Given the description of an element on the screen output the (x, y) to click on. 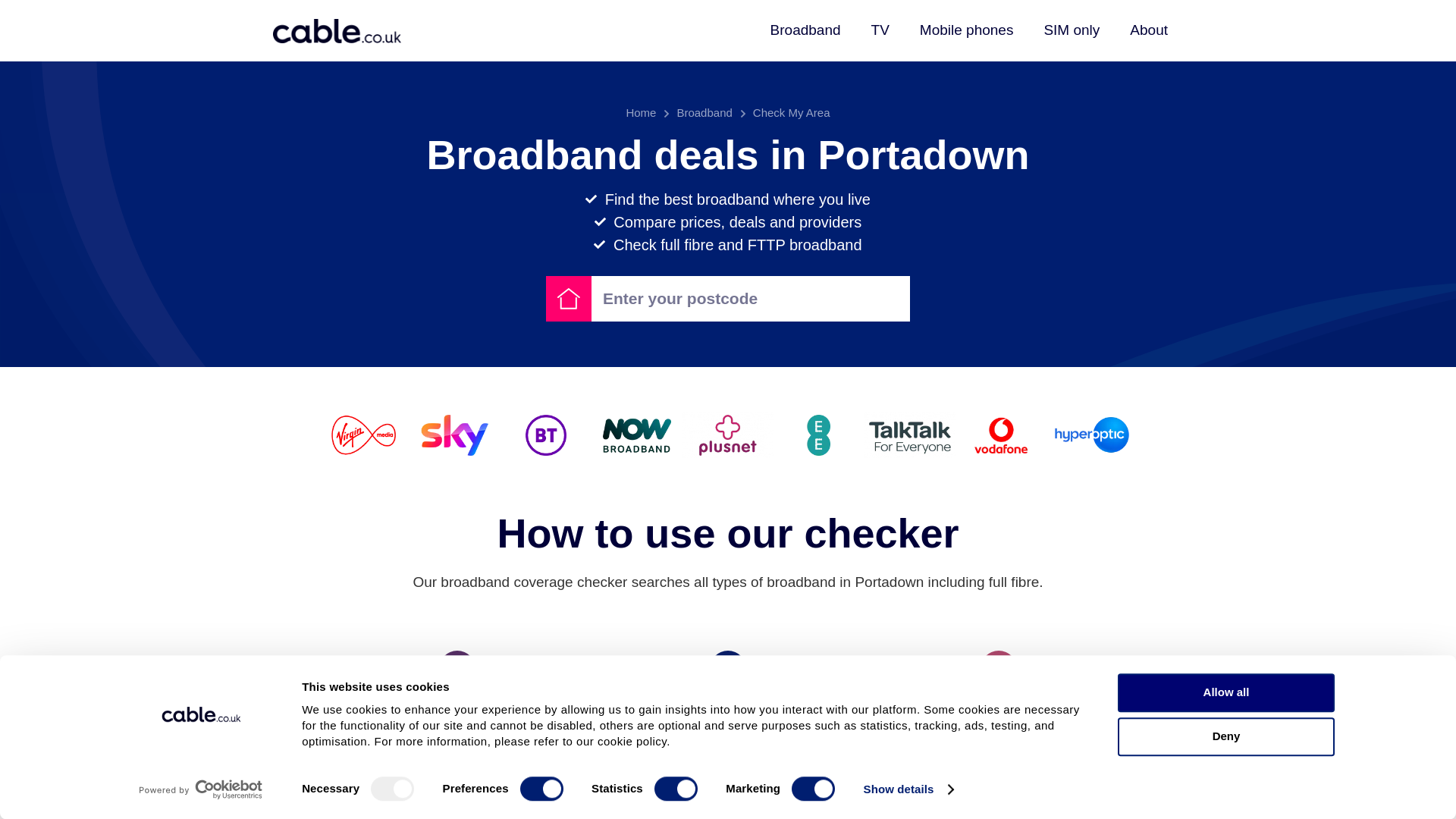
Allow all (1226, 692)
Show details (908, 789)
Deny (1226, 736)
Cable.co.uk Home (337, 30)
